Given the description of an element on the screen output the (x, y) to click on. 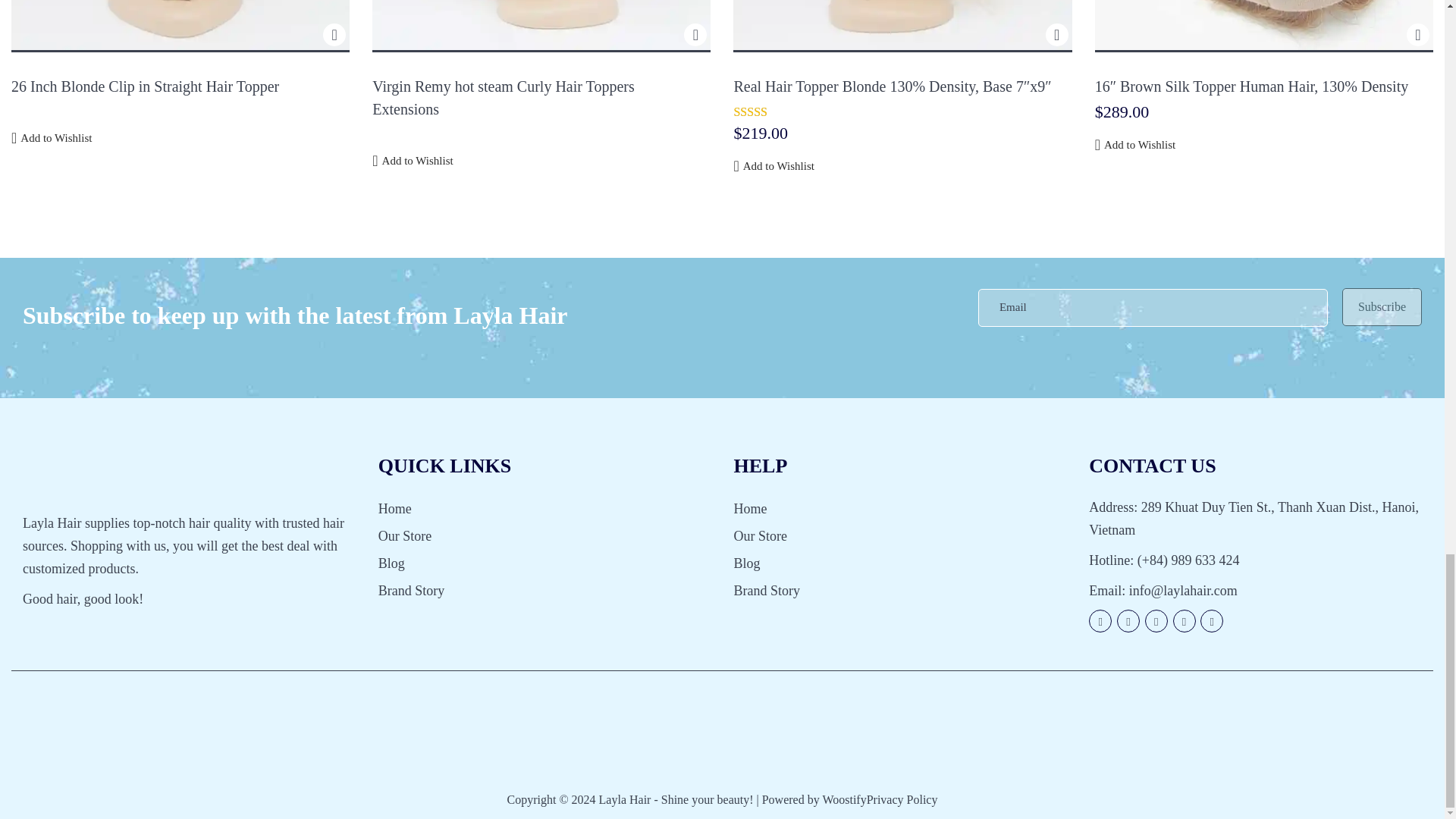
Subscribe (1382, 306)
Rated 5 out of 5 (764, 111)
